Given the description of an element on the screen output the (x, y) to click on. 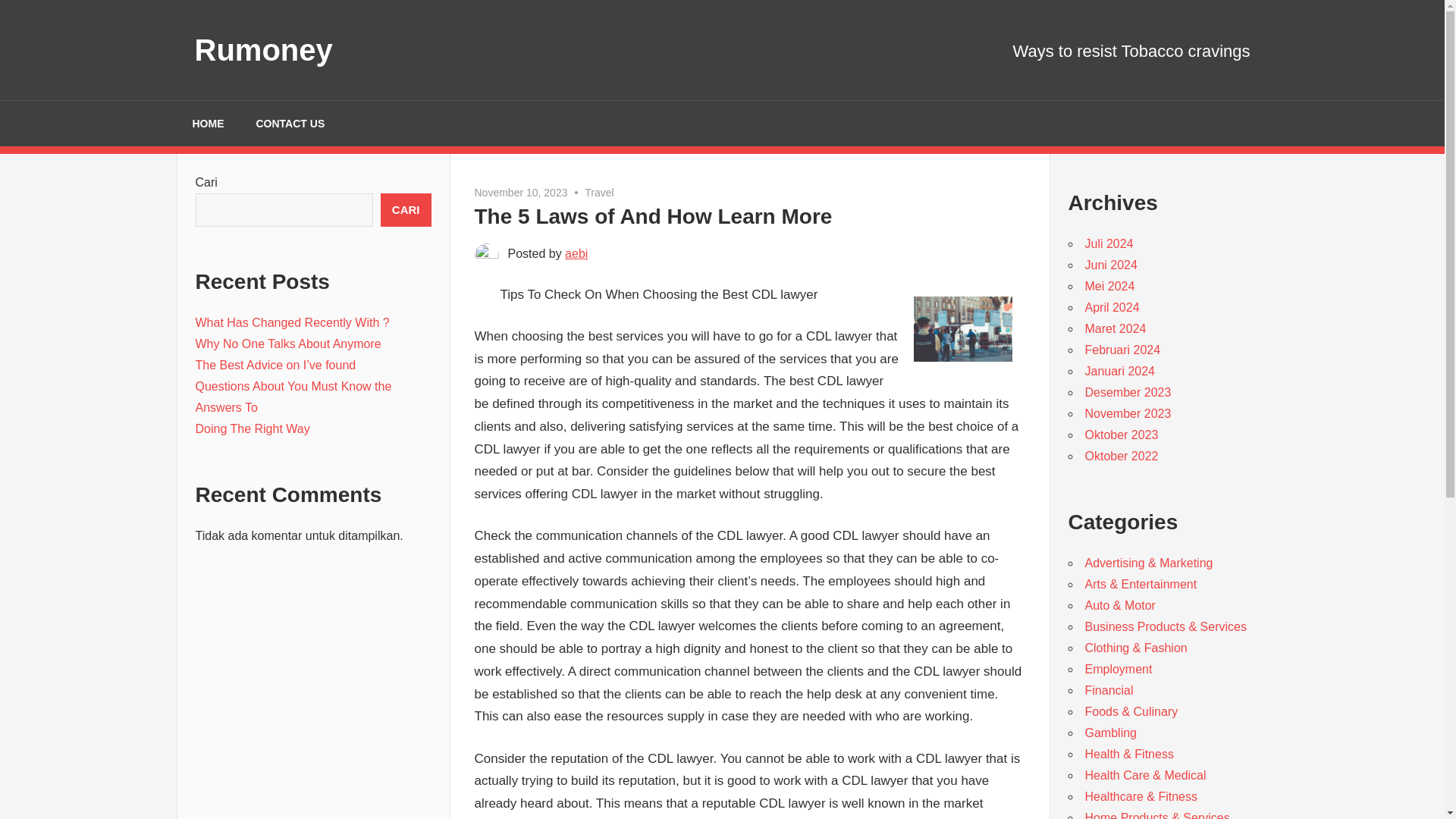
HOME (208, 123)
Desember 2023 (1127, 391)
Why No One Talks About Anymore (288, 343)
April 2024 (1111, 307)
November 10, 2023 (520, 192)
Financial (1108, 689)
Februari 2024 (1122, 349)
Oktober 2023 (1120, 434)
Juni 2024 (1110, 264)
CARI (405, 209)
CONTACT US (290, 123)
Oktober 2022 (1120, 455)
Mei 2024 (1109, 286)
aebi (576, 253)
What Has Changed Recently With ? (292, 322)
